Given the description of an element on the screen output the (x, y) to click on. 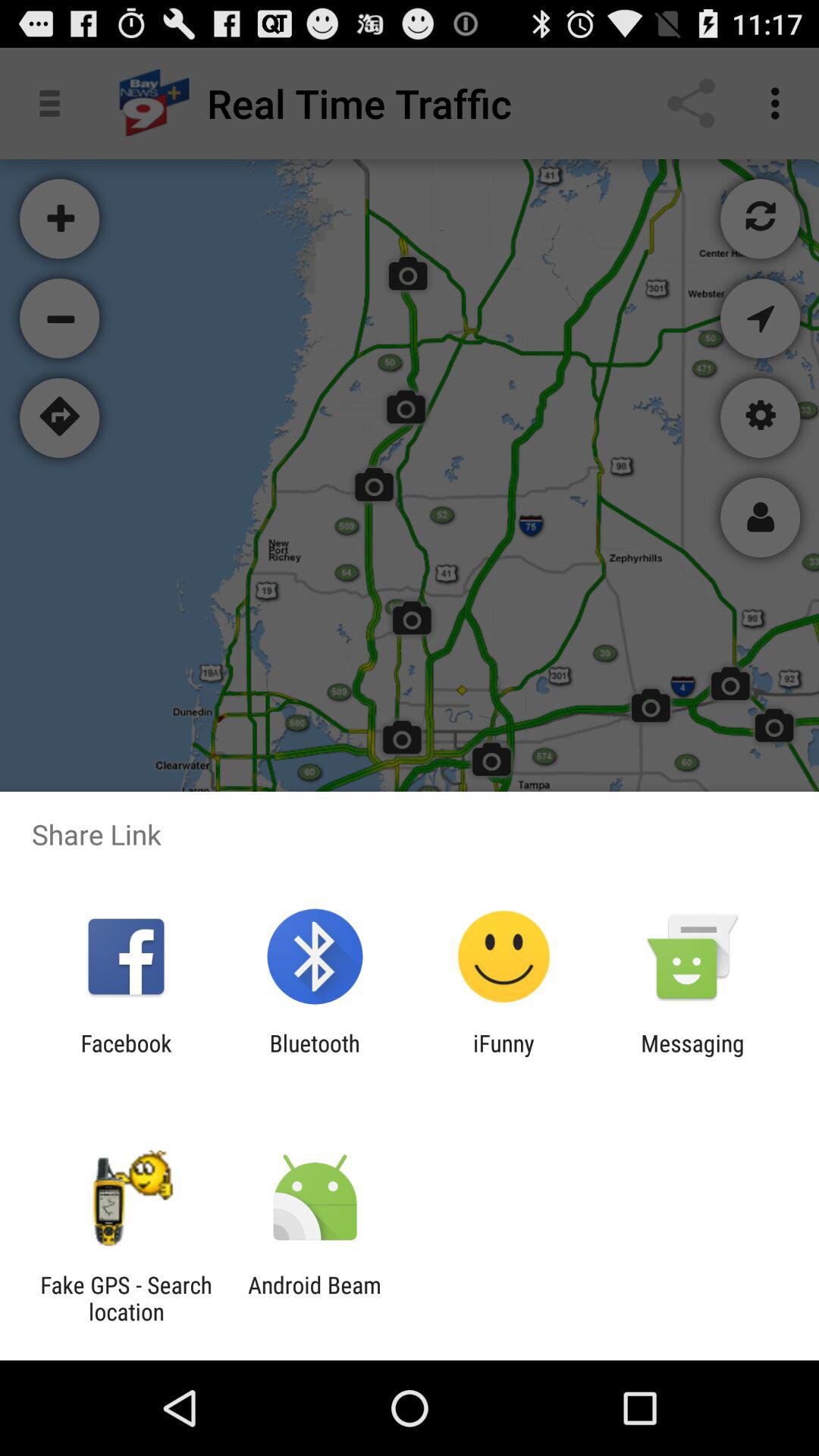
tap the fake gps search app (125, 1298)
